Given the description of an element on the screen output the (x, y) to click on. 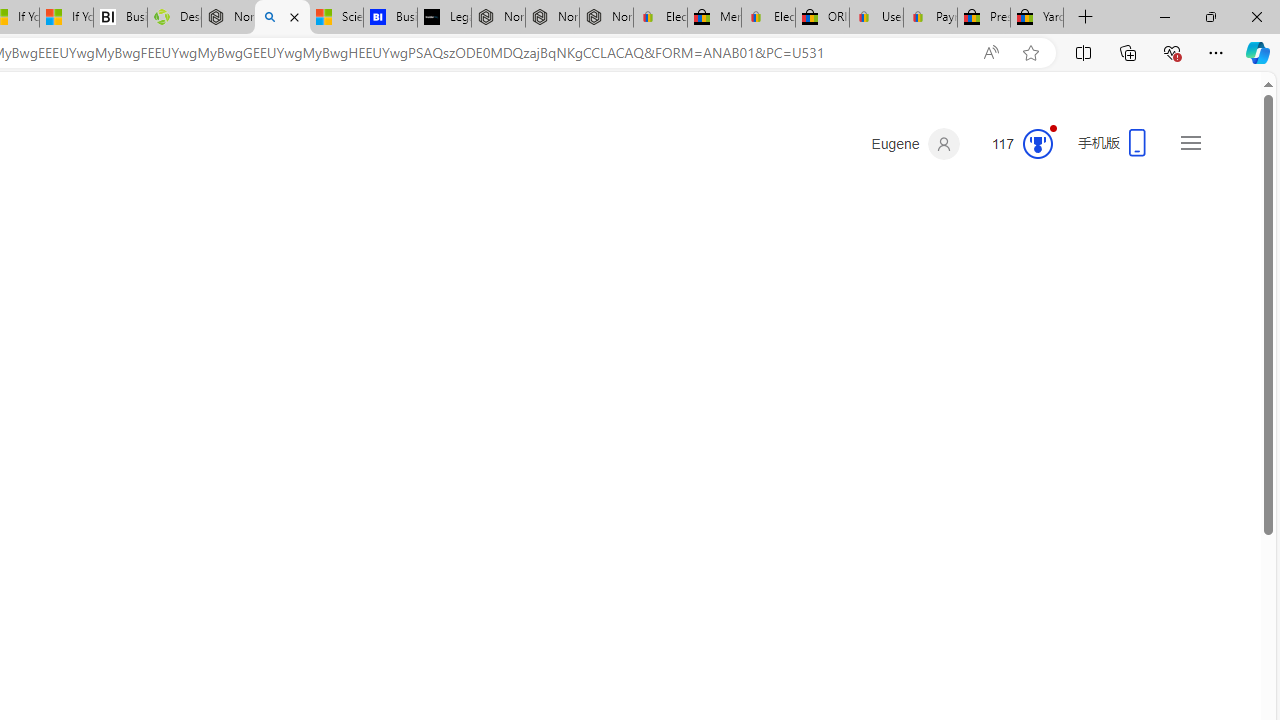
alabama high school quarterback dies - Search (282, 17)
